Given the description of an element on the screen output the (x, y) to click on. 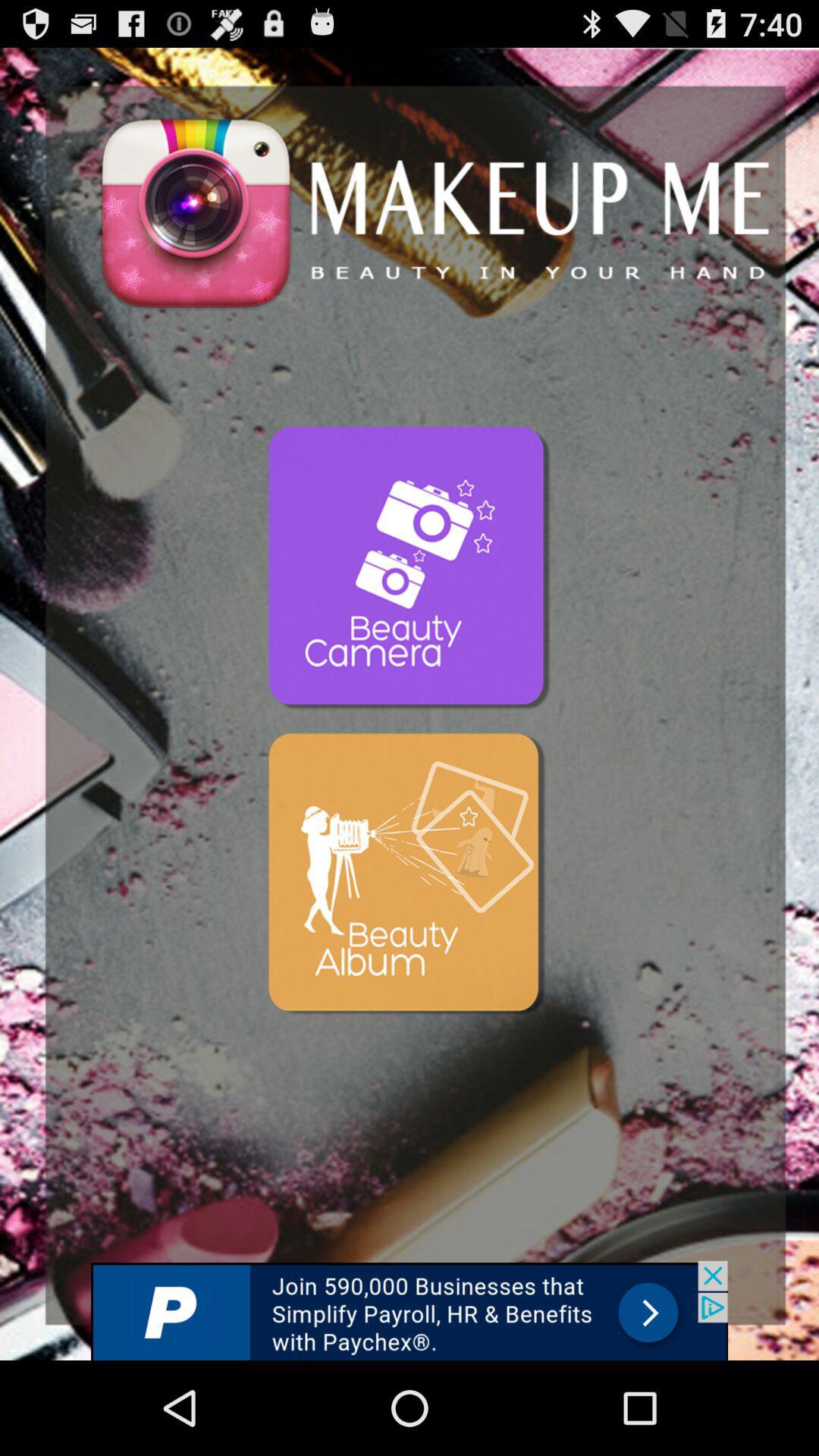
mobil app (409, 875)
